Given the description of an element on the screen output the (x, y) to click on. 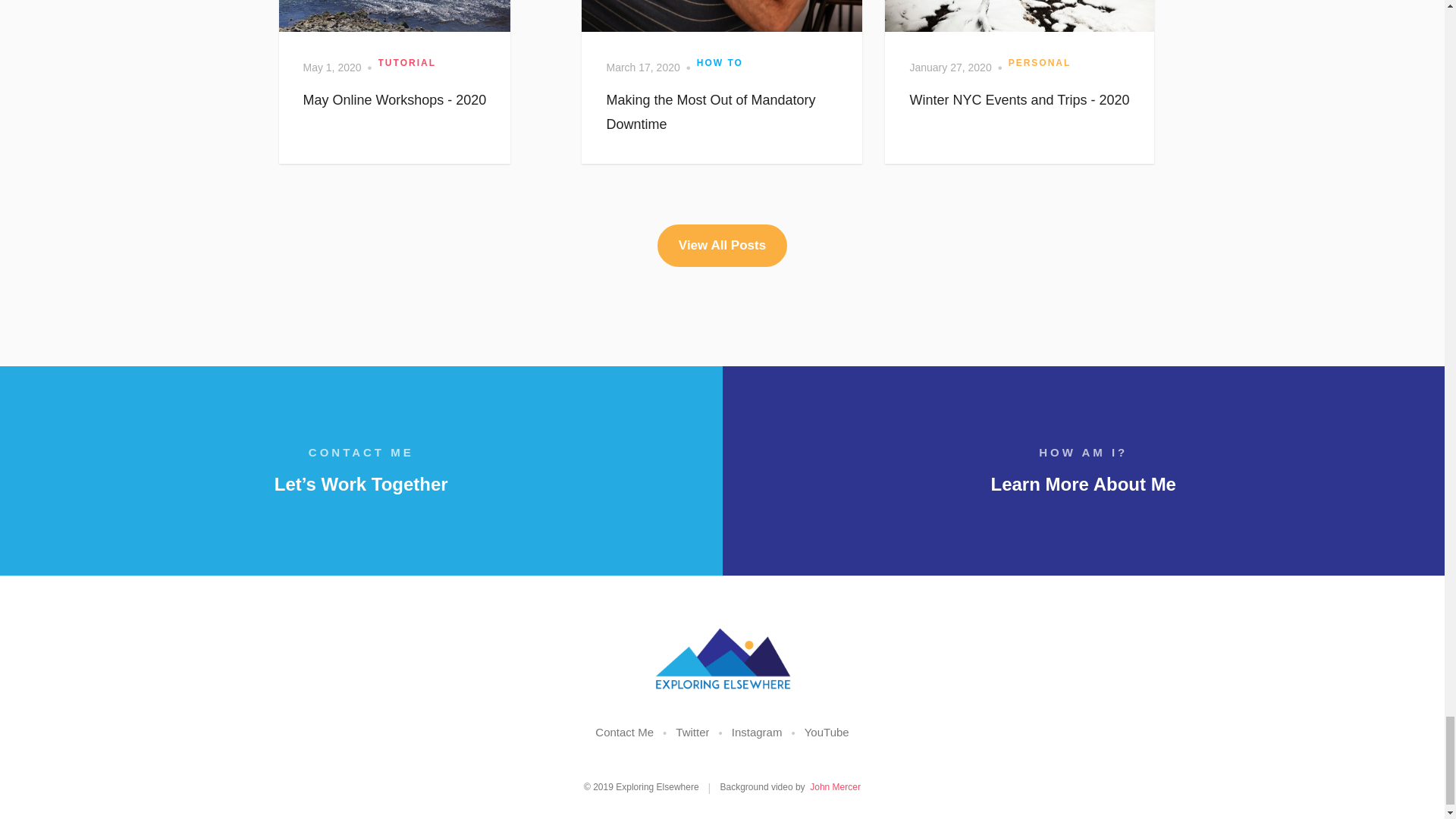
View All Posts (722, 245)
Instagram (757, 732)
Contact Me (624, 732)
YouTube (826, 732)
Twitter (692, 732)
John Mercer (834, 787)
